Given the description of an element on the screen output the (x, y) to click on. 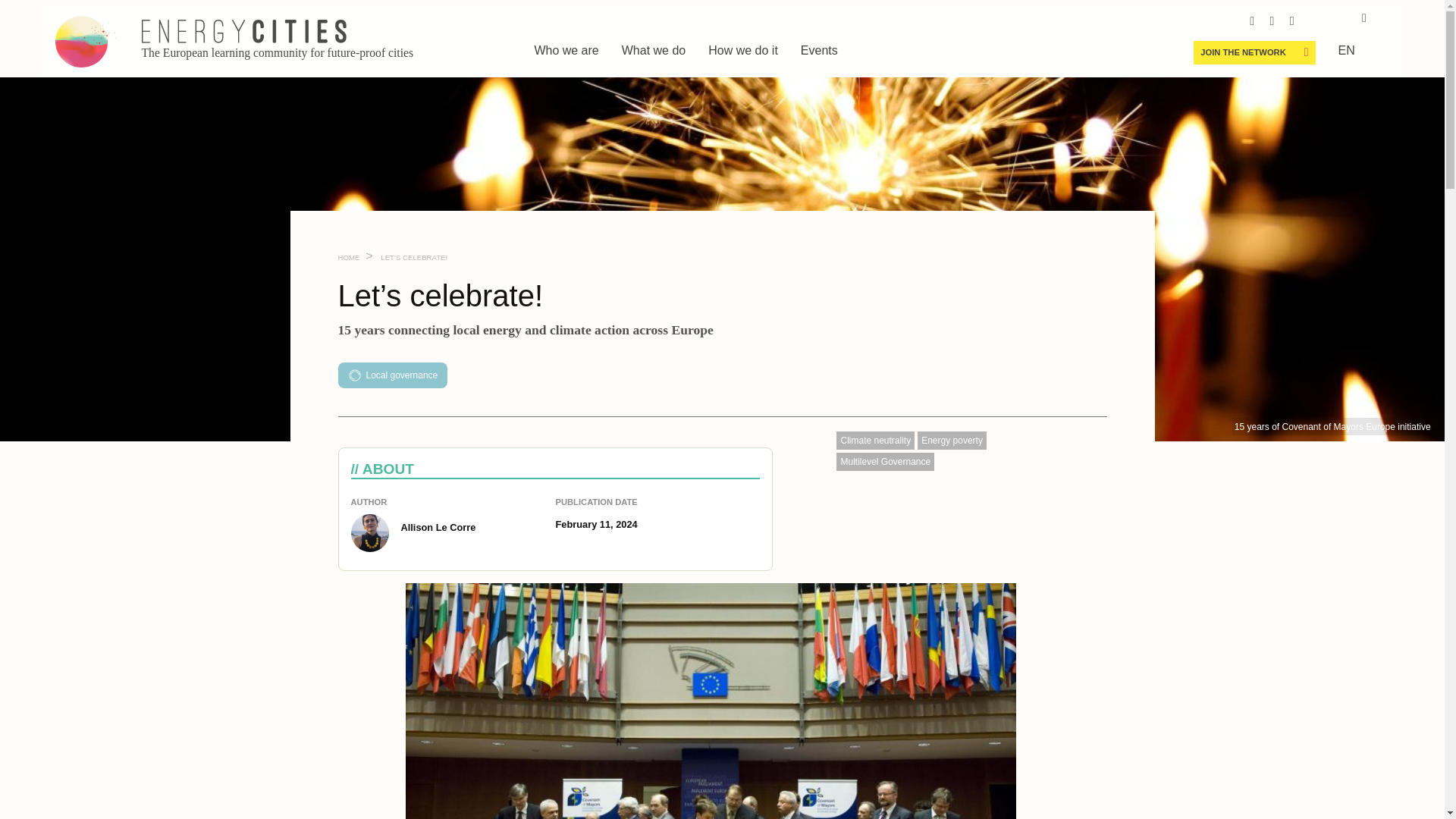
Events (819, 50)
Energy poverty (952, 440)
EN (1346, 50)
How we do it (742, 50)
Local governance (392, 374)
What we do (653, 50)
HOME (348, 257)
Allison Le Corre (452, 533)
JOIN THE NETWORK (1242, 51)
Climate neutrality (874, 440)
The European learning community for future-proof cities (227, 41)
EN (1346, 50)
Who we are (566, 50)
Multilevel Governance (884, 461)
